Given the description of an element on the screen output the (x, y) to click on. 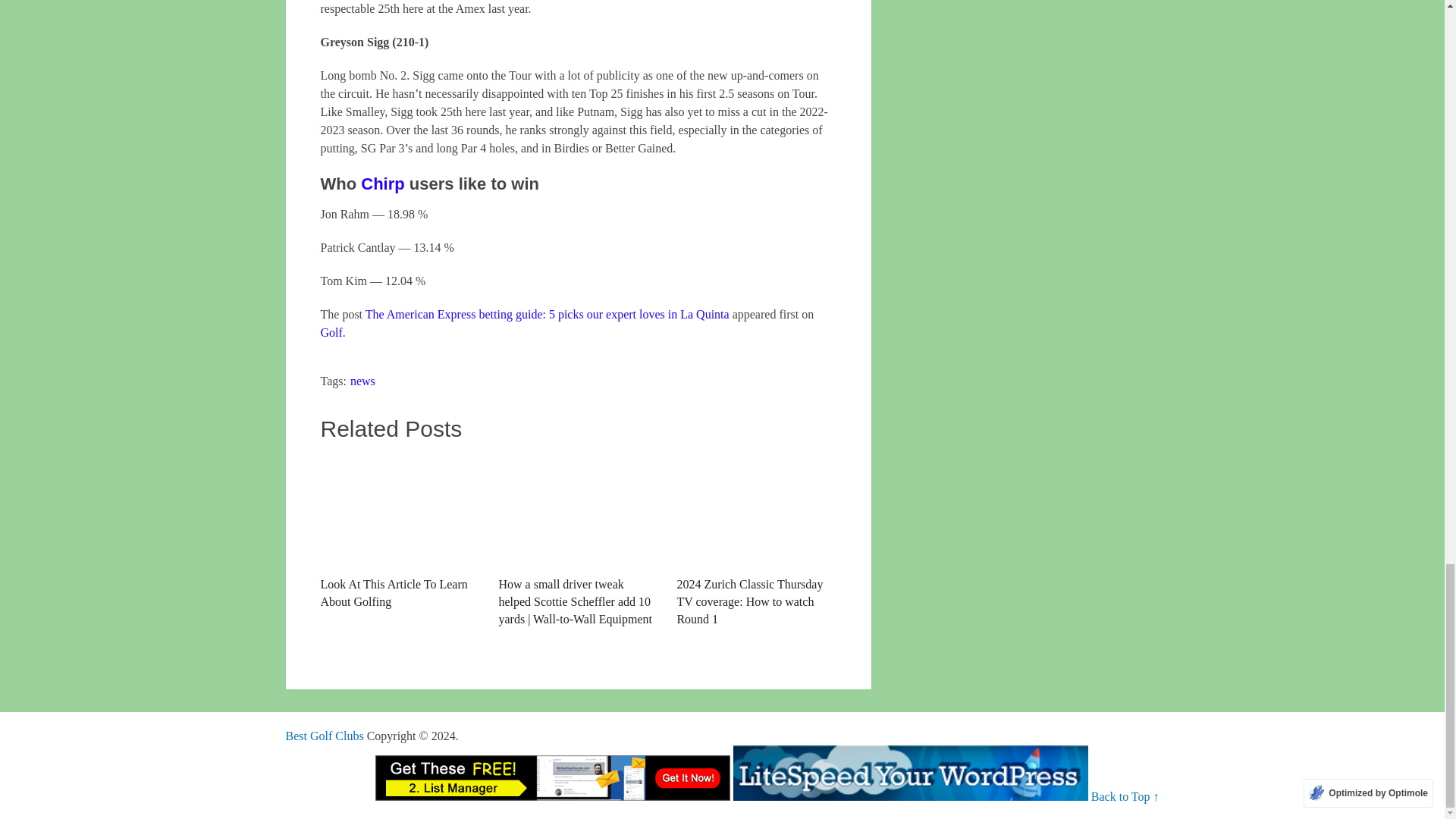
news (362, 380)
Look At This Article To Learn About Golfing (399, 511)
Chirp (382, 183)
Best Golf Clubs and Golf Course Reviews and Articles (323, 735)
Look At This Article To Learn About Golfing (399, 532)
Golf (331, 332)
Look At This Article To Learn About Golfing (399, 532)
